Given the description of an element on the screen output the (x, y) to click on. 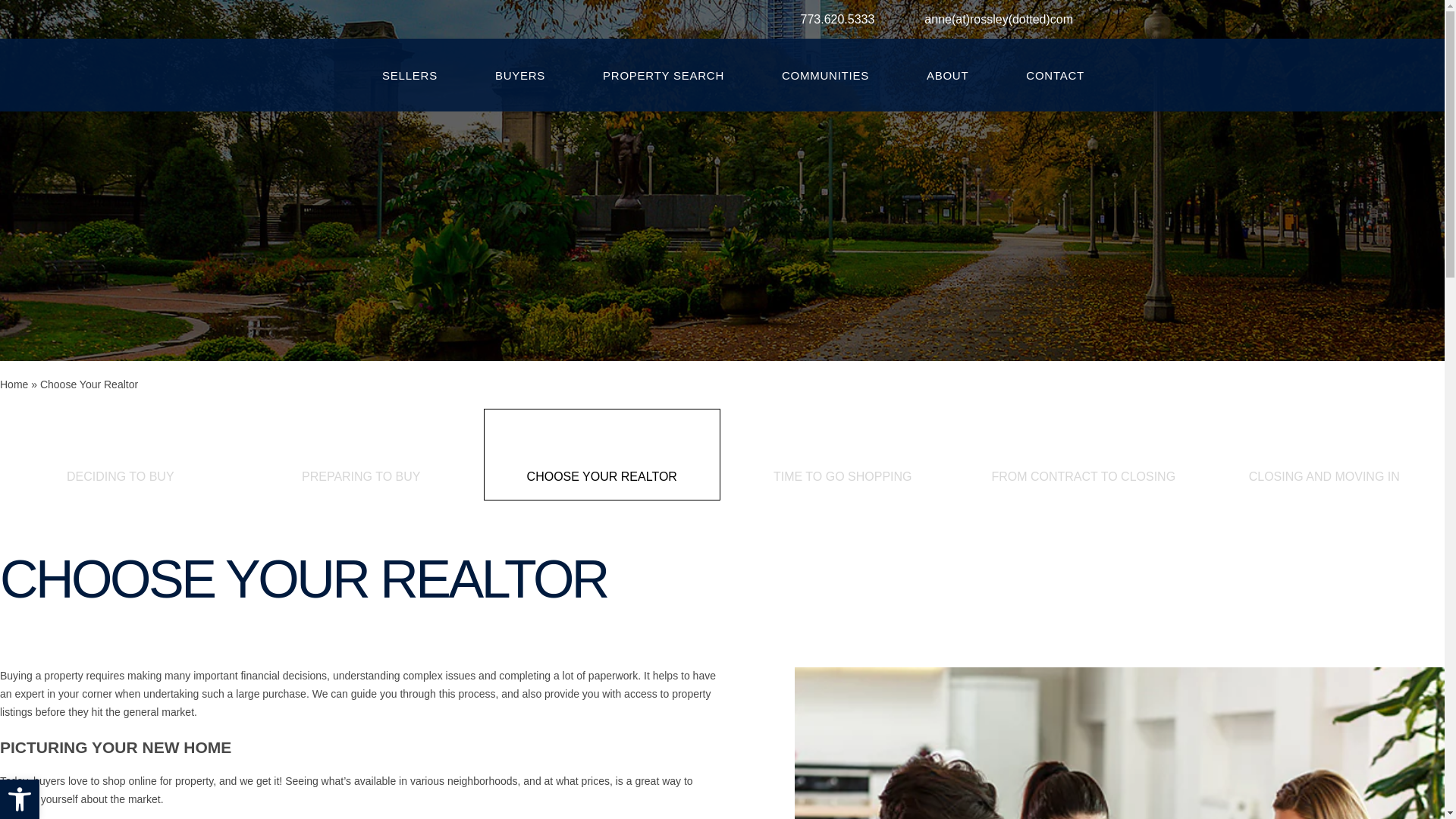
Accessibility Tools (19, 799)
773.620.5333 (837, 19)
BUYERS (519, 75)
SELLERS (409, 75)
